Given the description of an element on the screen output the (x, y) to click on. 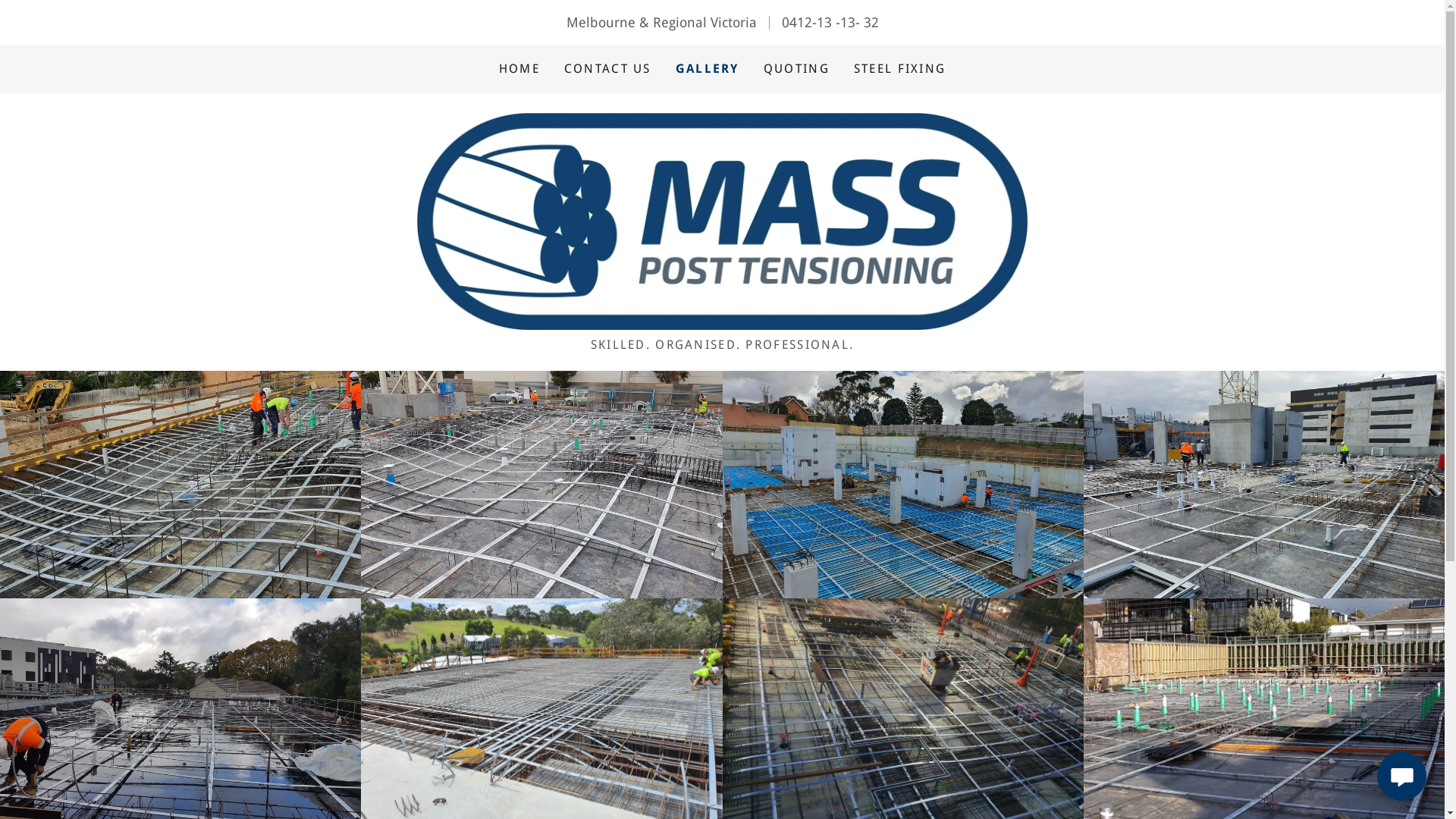
GALLERY Element type: text (707, 68)
QUOTING Element type: text (796, 68)
HOME Element type: text (519, 68)
STEEL FIXING Element type: text (899, 68)
0412-13 -13- 32 Element type: text (829, 22)
CONTACT US Element type: text (607, 68)
MASS Post Tensioning Element type: hover (722, 220)
